Given the description of an element on the screen output the (x, y) to click on. 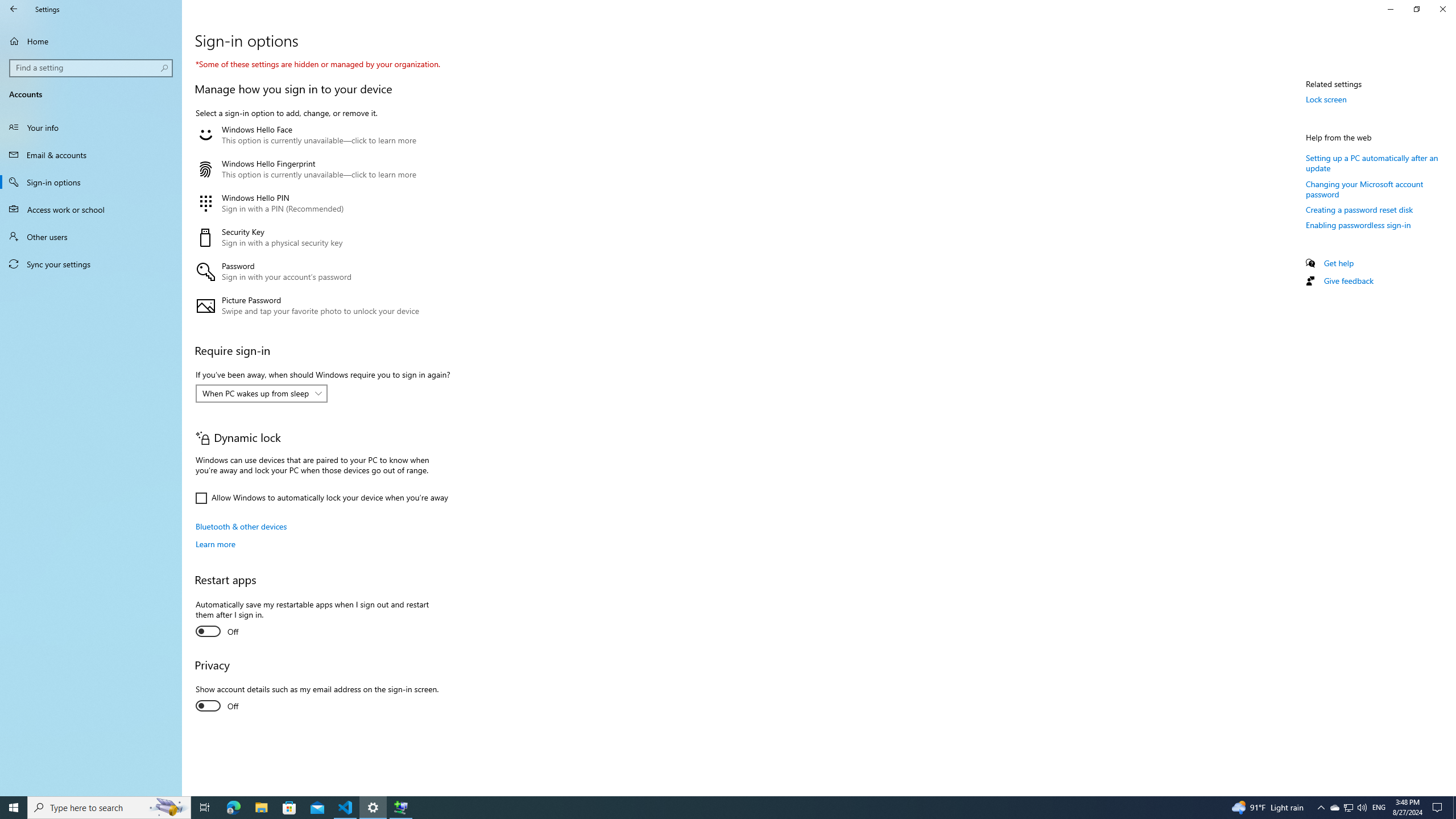
Sync your settings (91, 263)
Enabling passwordless sign-in (1358, 224)
Sign-in options (91, 181)
Windows Hello PIN Sign in with a PIN (Recommended) (319, 203)
Access work or school (91, 208)
Give feedback (1348, 280)
Security Key Sign in with a physical security key (319, 237)
When PC wakes up from sleep (255, 393)
Back (13, 9)
Search box, Find a setting (91, 67)
